Given the description of an element on the screen output the (x, y) to click on. 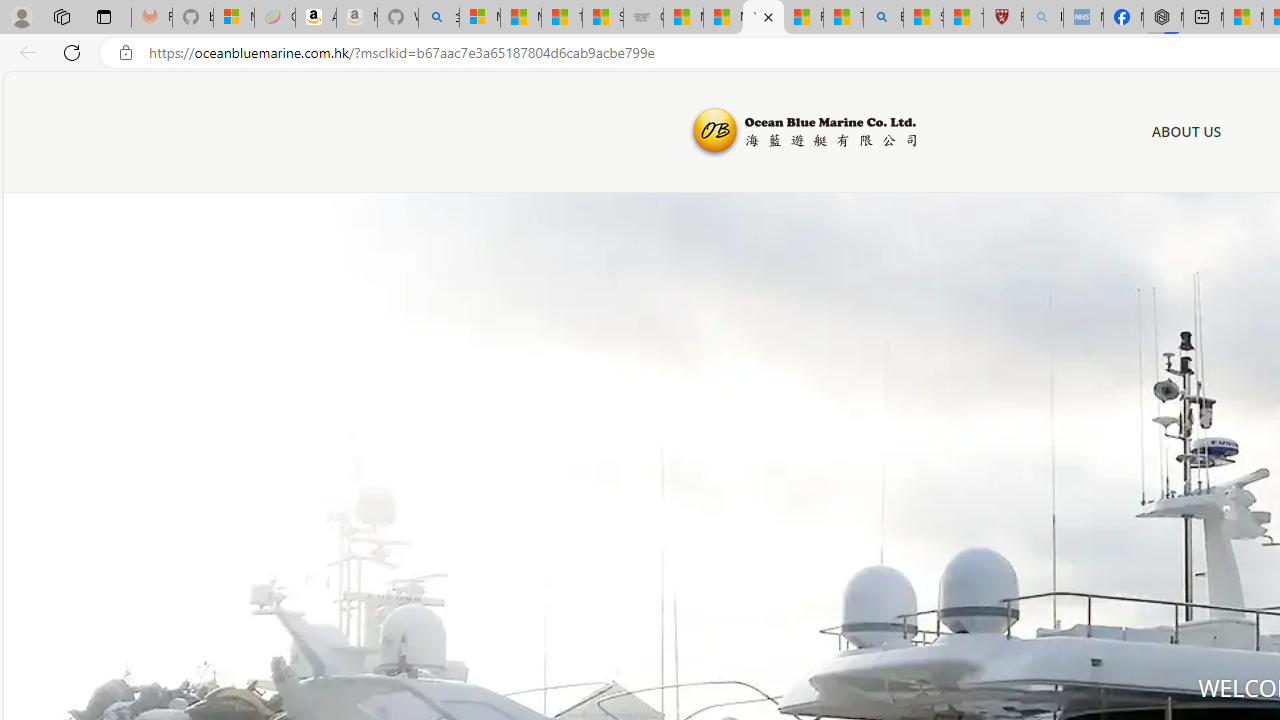
ABOUT US (1186, 131)
Nordace - Nordace Siena Is Not An Ordinary Backpack (1163, 17)
ABOUT US (1186, 132)
Science - MSN (923, 17)
Robert H. Shmerling, MD - Harvard Health (1003, 17)
Recipes - MSN (803, 17)
